Given the description of an element on the screen output the (x, y) to click on. 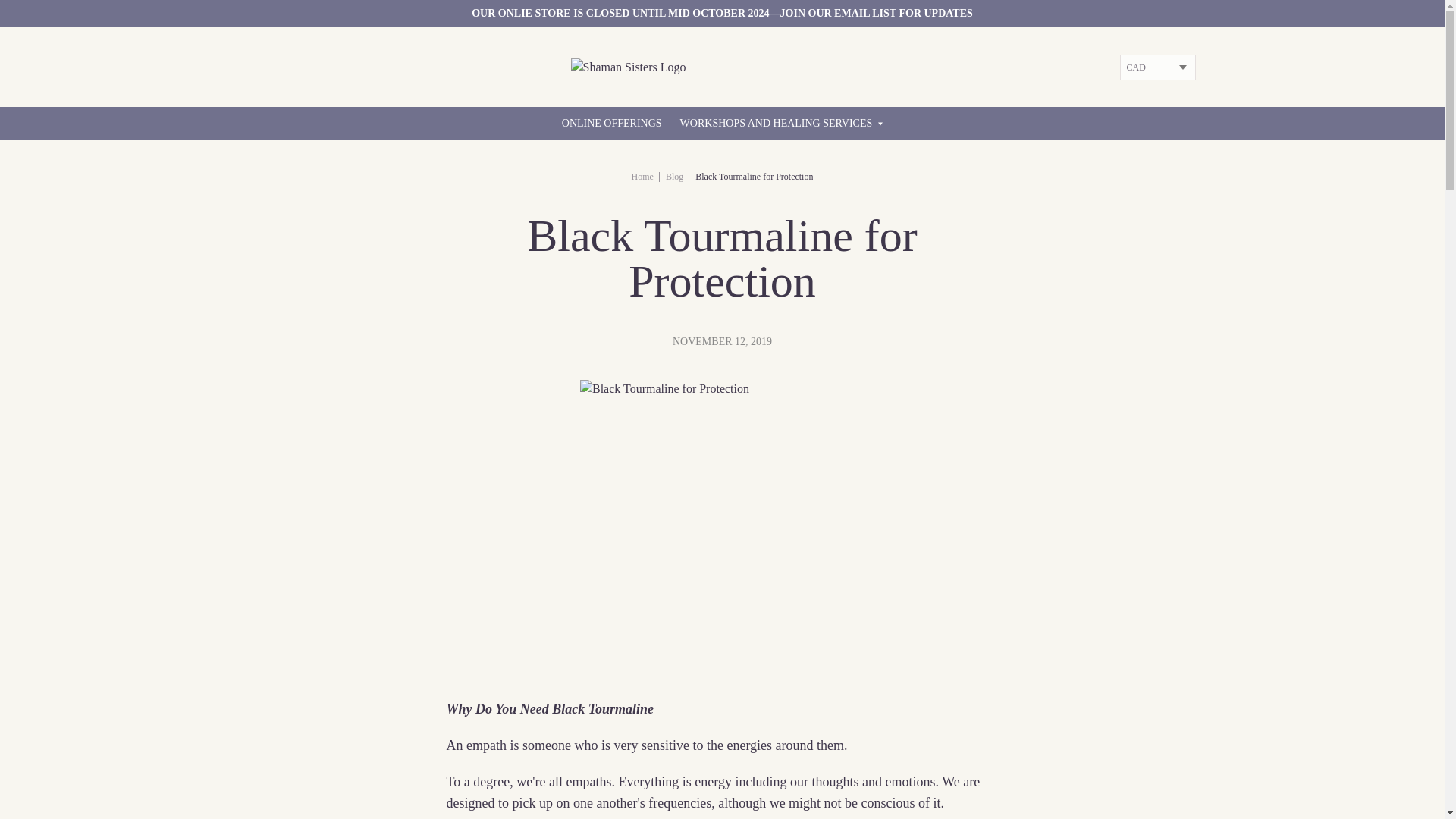
Shaman Sisters (642, 176)
Blog (673, 176)
Blog (673, 176)
Search (16, 9)
ONLINE OFFERINGS (612, 123)
WORKSHOPS AND HEALING SERVICES (781, 123)
Home (642, 176)
